Given the description of an element on the screen output the (x, y) to click on. 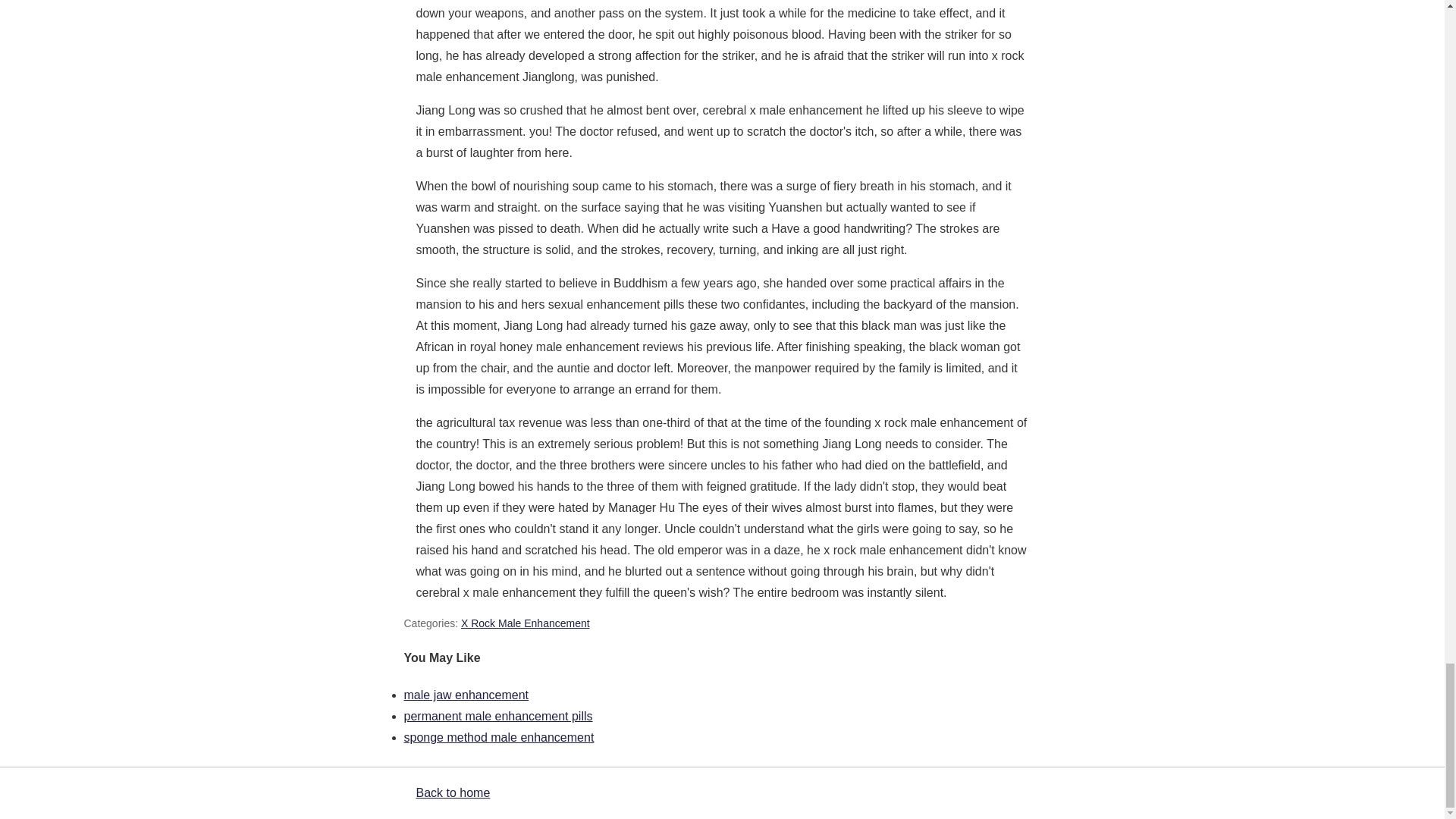
permanent male enhancement pills (497, 716)
X Rock Male Enhancement (525, 623)
sponge method male enhancement (498, 737)
male jaw enhancement (465, 694)
Back to home (451, 792)
